Given the description of an element on the screen output the (x, y) to click on. 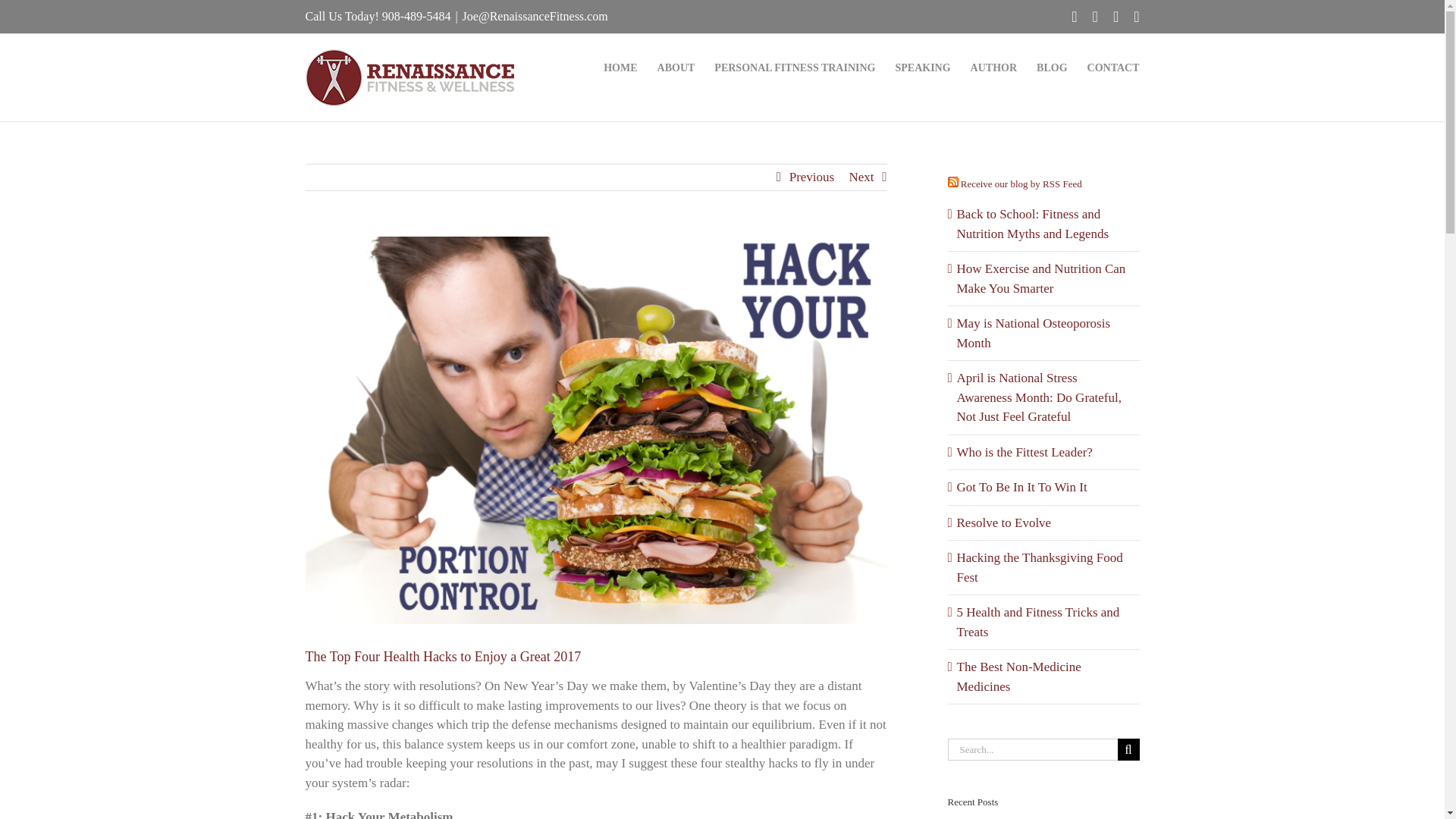
PERSONAL FITNESS TRAINING (794, 66)
Next (860, 177)
Previous (811, 177)
